Given the description of an element on the screen output the (x, y) to click on. 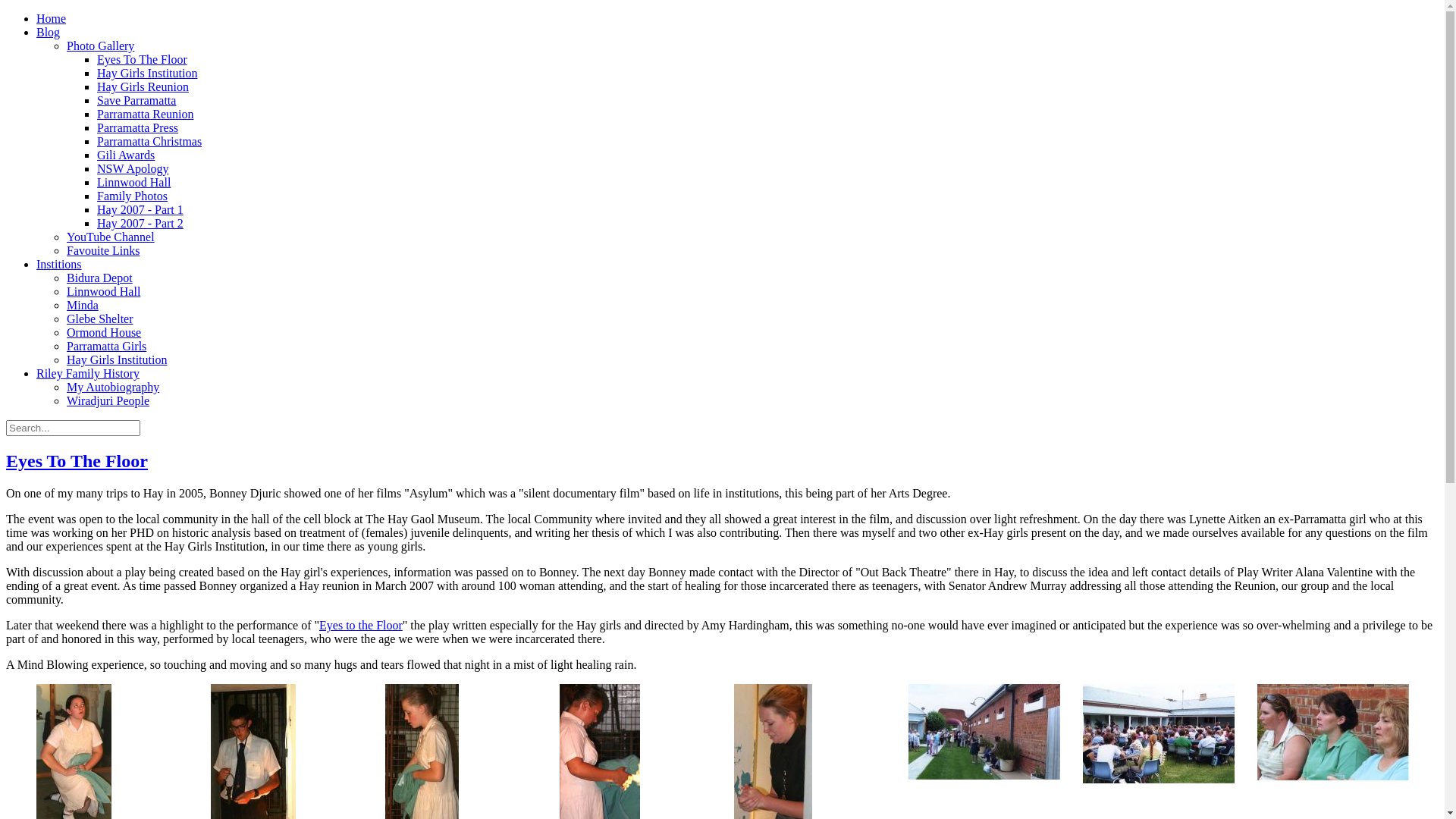
Family Photos Element type: text (132, 195)
Favouite Links Element type: text (102, 250)
Linnwood Hall Element type: text (103, 291)
Home Element type: text (50, 18)
Parramatta Press Element type: text (137, 127)
eyes-to-the-floor-hay2a Element type: hover (984, 731)
Linnwood Hall Element type: text (133, 181)
My Autobiography Element type: text (112, 386)
Save Parramatta Element type: text (136, 100)
Eyes to the Floor Element type: text (360, 624)
eyes-to-the-floor-hay2b Element type: hover (1158, 733)
Gili Awards Element type: text (125, 154)
<strong><em>eyes-to-the-floor-hay2b</em></strong> Element type: hover (1158, 778)
NSW Apology Element type: text (132, 168)
Parramatta Girls Element type: text (106, 345)
eyes-to-the-floor-hay3a Element type: hover (1332, 732)
Blog Element type: text (47, 31)
Eyes To The Floor Element type: text (76, 460)
Ormond House Element type: text (103, 332)
Hay 2007 - Part 1 Element type: text (140, 209)
Parramatta Reunion Element type: text (145, 113)
Minda Element type: text (82, 304)
Hay 2007 - Part 2 Element type: text (140, 222)
Photo Gallery Element type: text (100, 45)
Glebe Shelter Element type: text (99, 318)
Bidura Depot Element type: text (99, 277)
Wiradjuri People Element type: text (107, 400)
<strong><em>eyes-to-the-floor-hay2a</em></strong> Element type: hover (984, 774)
Hay Girls Institution Element type: text (116, 359)
Hay Girls Reunion Element type: text (142, 86)
YouTube Channel Element type: text (110, 236)
Hay Girls Institution Element type: text (147, 72)
<strong><em>eyes-to-the-floor-hay3a</em></strong> Element type: hover (1332, 775)
Eyes To The Floor Element type: text (142, 59)
Parramatta Christmas Element type: text (149, 140)
Riley Family History Element type: text (87, 373)
Institions Element type: text (58, 263)
